Given the description of an element on the screen output the (x, y) to click on. 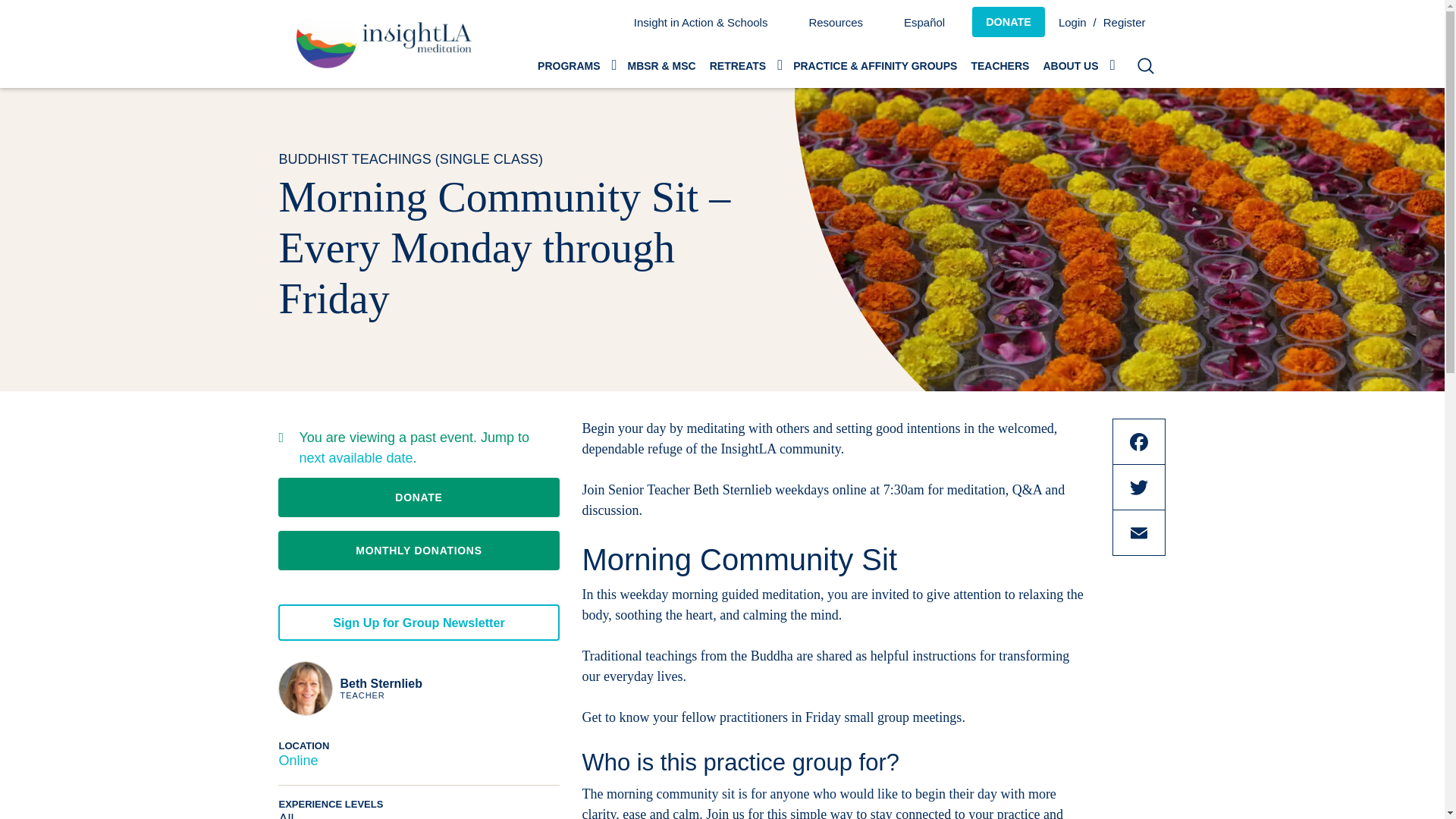
Login (1074, 21)
DONATE (1008, 21)
RETREATS (744, 65)
ABOUT US (1076, 65)
TEACHERS (999, 65)
Register (1130, 21)
PROGRAMS (575, 65)
Resources (835, 21)
